Given the description of an element on the screen output the (x, y) to click on. 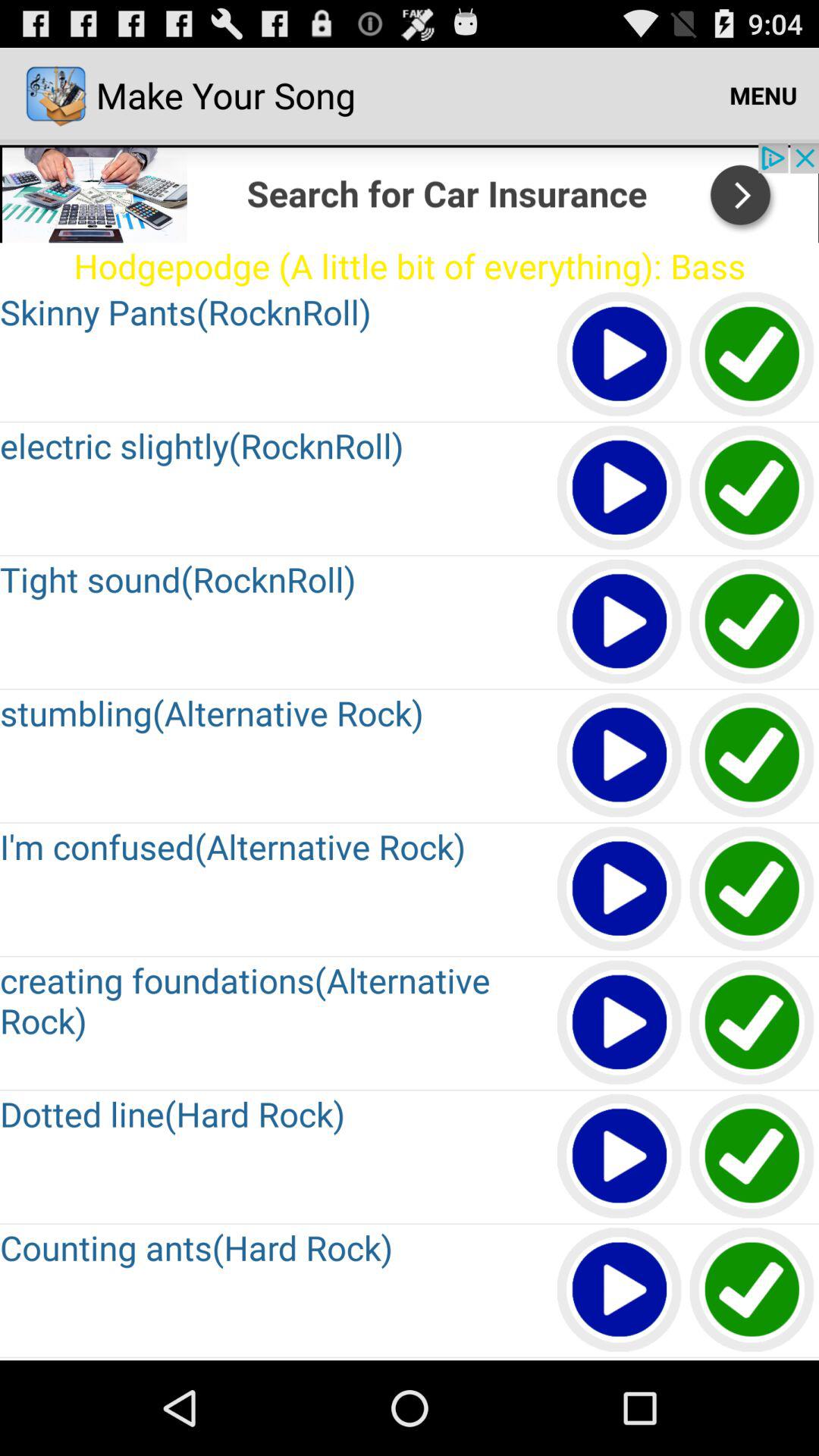
click to select button (752, 1156)
